Given the description of an element on the screen output the (x, y) to click on. 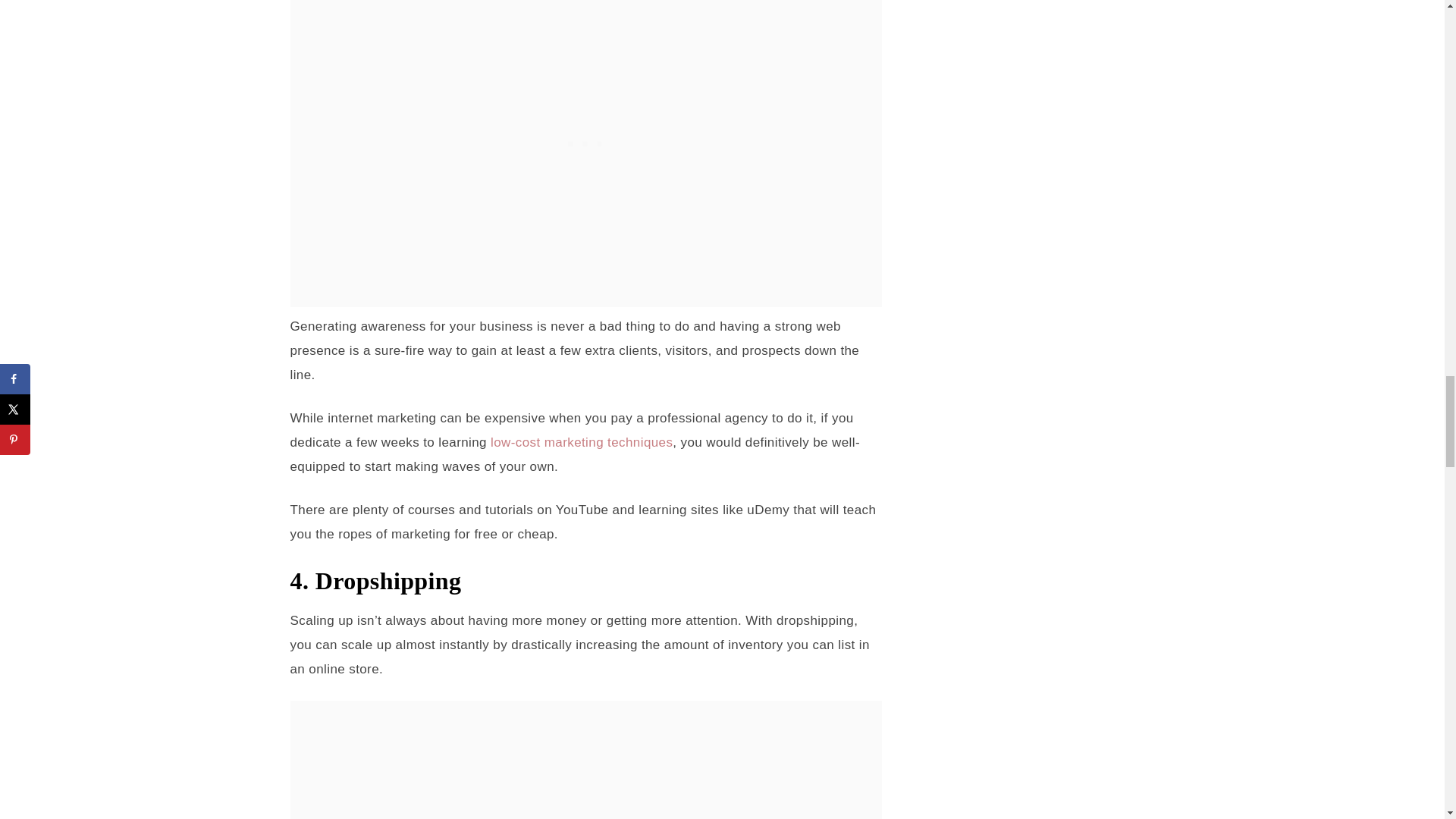
low-cost marketing techniques (581, 441)
